Given the description of an element on the screen output the (x, y) to click on. 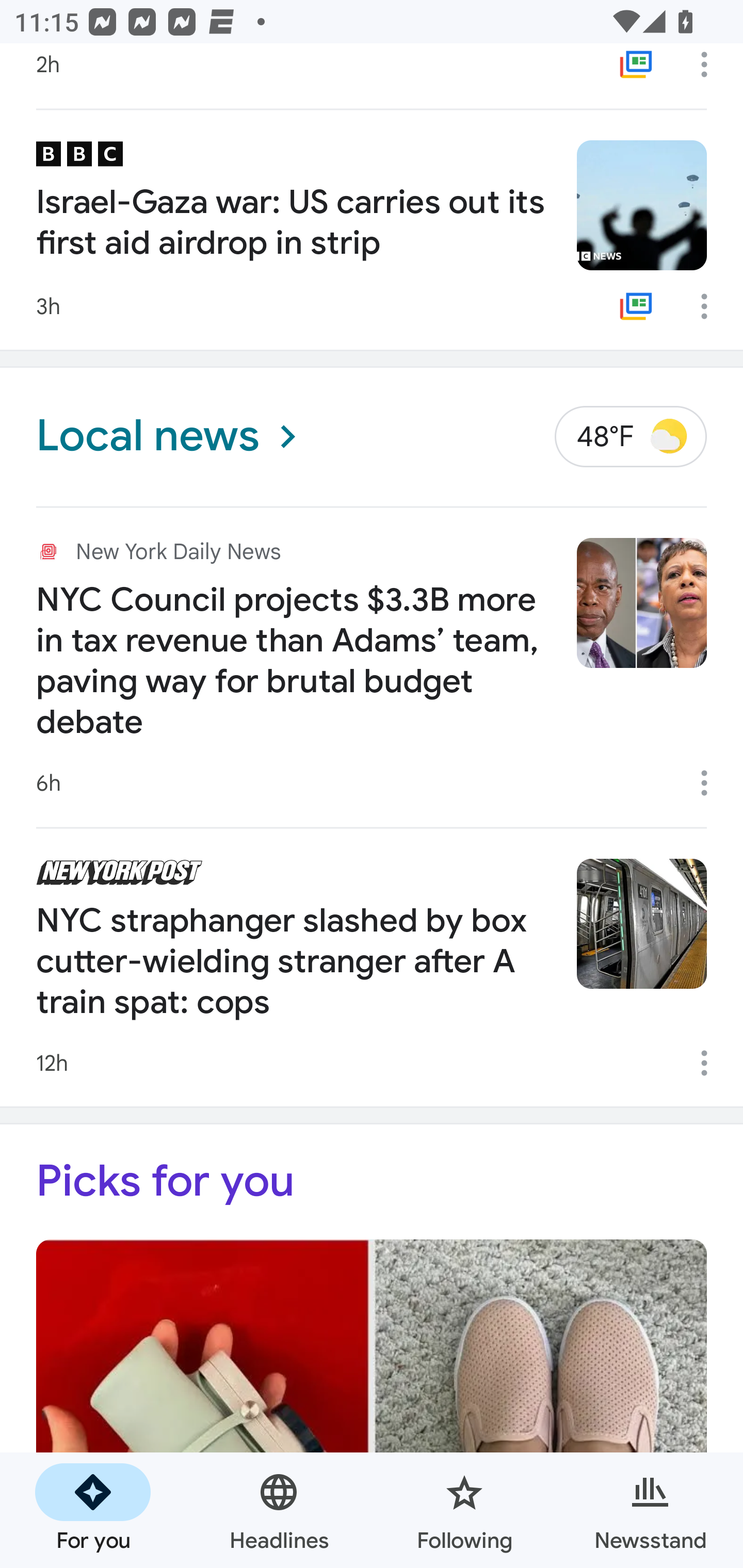
More options (711, 70)
More options (711, 306)
More options (711, 783)
More options (711, 1063)
For you (92, 1509)
Headlines (278, 1509)
Following (464, 1509)
Newsstand (650, 1509)
